Given the description of an element on the screen output the (x, y) to click on. 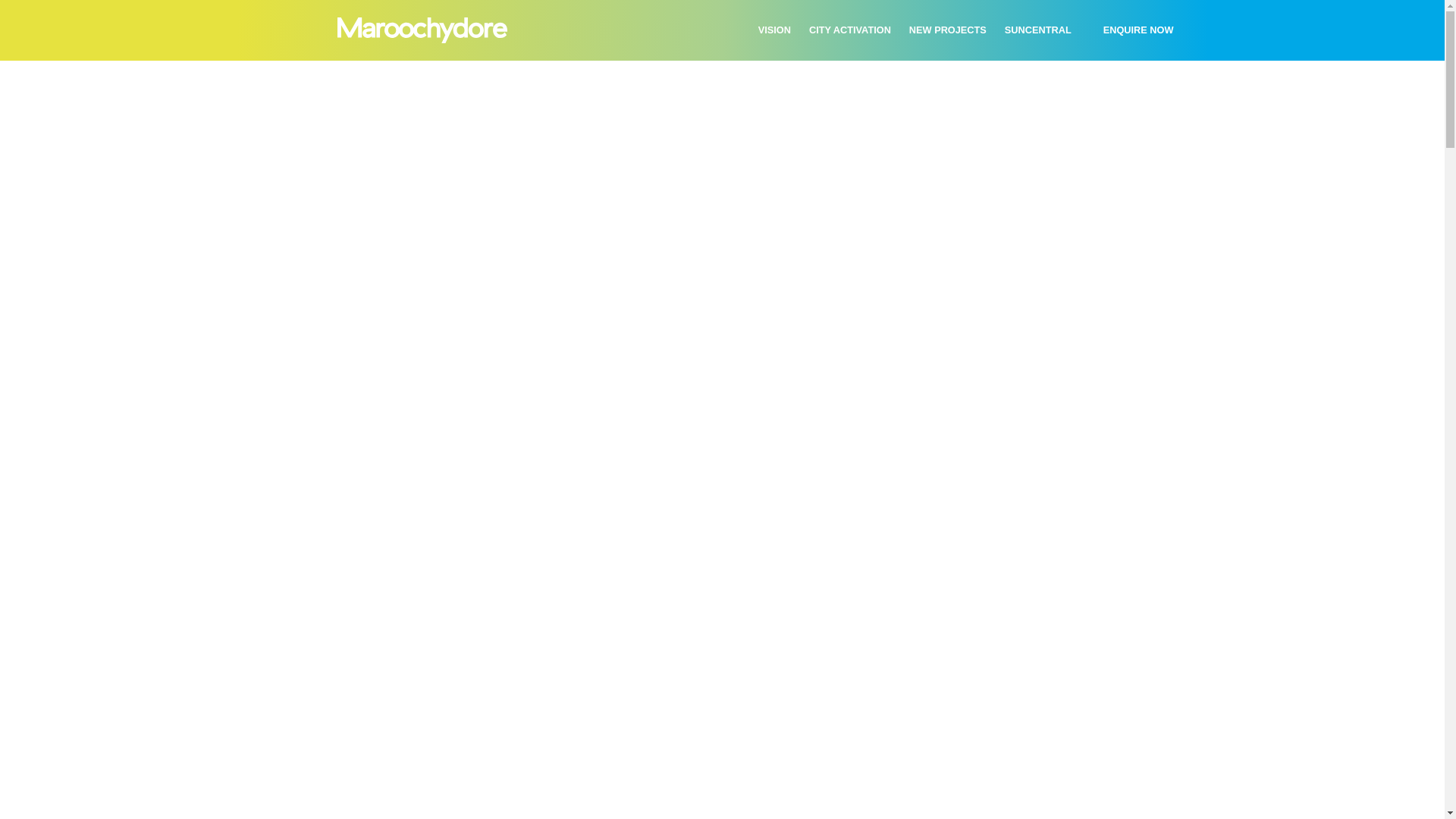
Home Element type: hover (421, 30)
Skip to main content Element type: text (0, 60)
VISION Element type: text (774, 30)
SUNCENTRAL Element type: text (1037, 30)
CITY ACTIVATION Element type: text (849, 30)
ENQUIRE NOW Element type: text (1138, 29)
NEW PROJECTS Element type: text (947, 30)
